Given the description of an element on the screen output the (x, y) to click on. 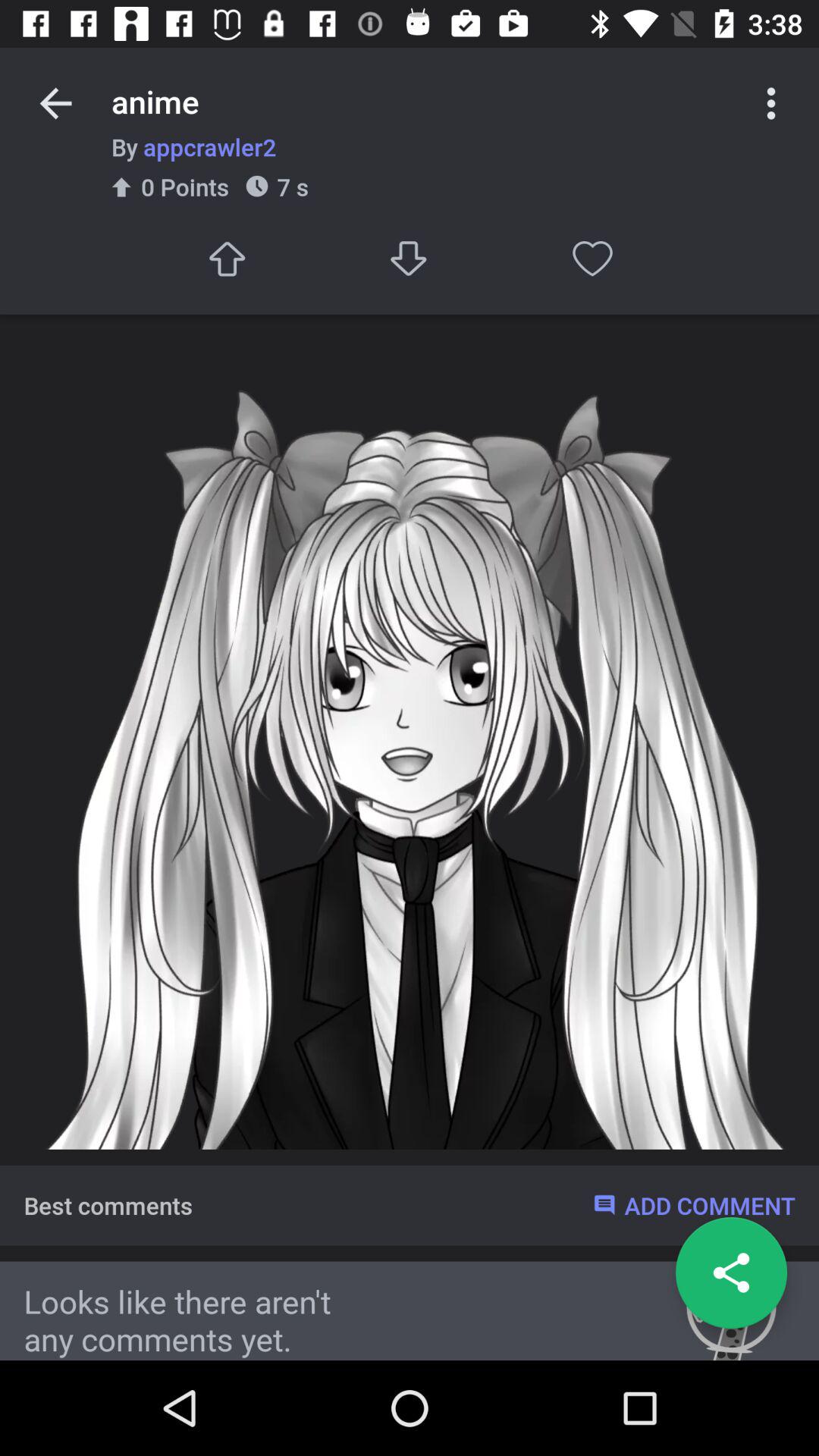
open social media (731, 1272)
